Given the description of an element on the screen output the (x, y) to click on. 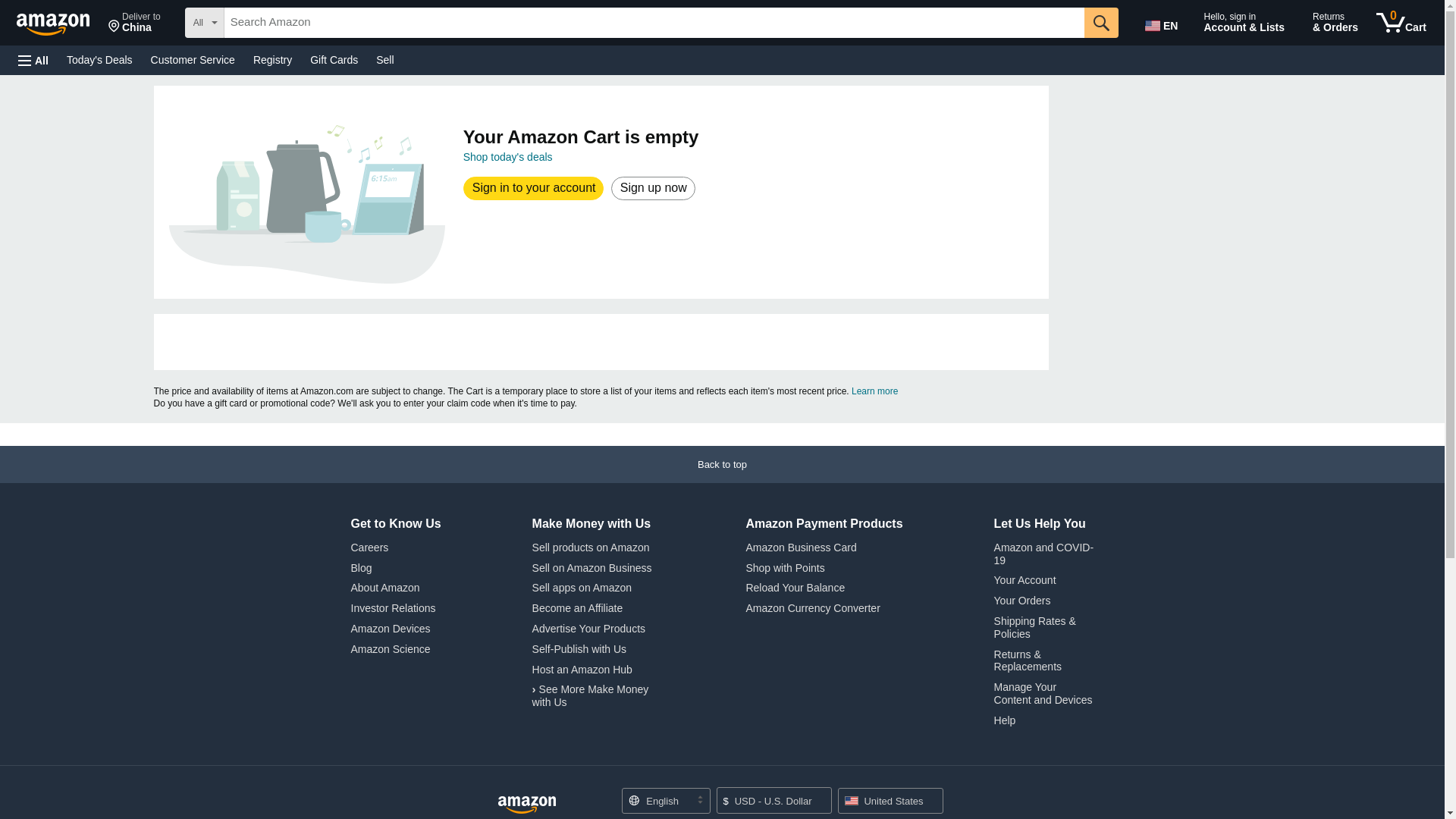
Sign up now (652, 188)
Self-Publish with Us (579, 648)
All (33, 60)
EN (1163, 22)
Sell (384, 59)
Amazon Science (389, 648)
Today's Deals (99, 59)
Sign in to your account (534, 188)
Sell products on Amazon (590, 547)
Blog (360, 567)
Learn more (874, 390)
Sell on Amazon Business (592, 567)
Customer Service (192, 59)
Sell apps on Amazon (581, 587)
